Given the description of an element on the screen output the (x, y) to click on. 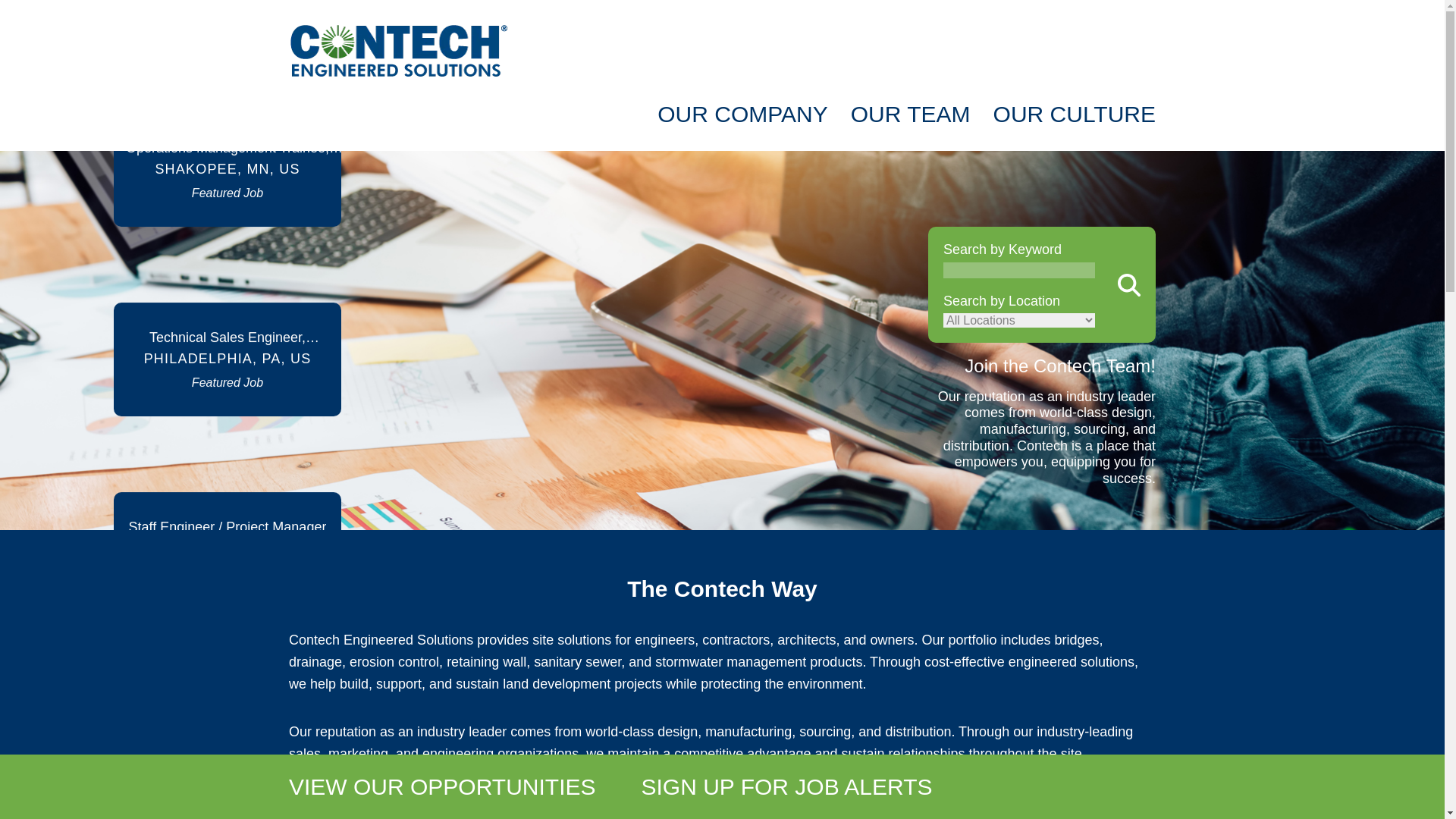
OUR CULTURE (1074, 113)
OUR TEAM (910, 113)
SIGN UP FOR JOB ALERTS (787, 786)
VIEW OUR OPPORTUNITIES (441, 786)
OUR COMPANY (742, 113)
